Given the description of an element on the screen output the (x, y) to click on. 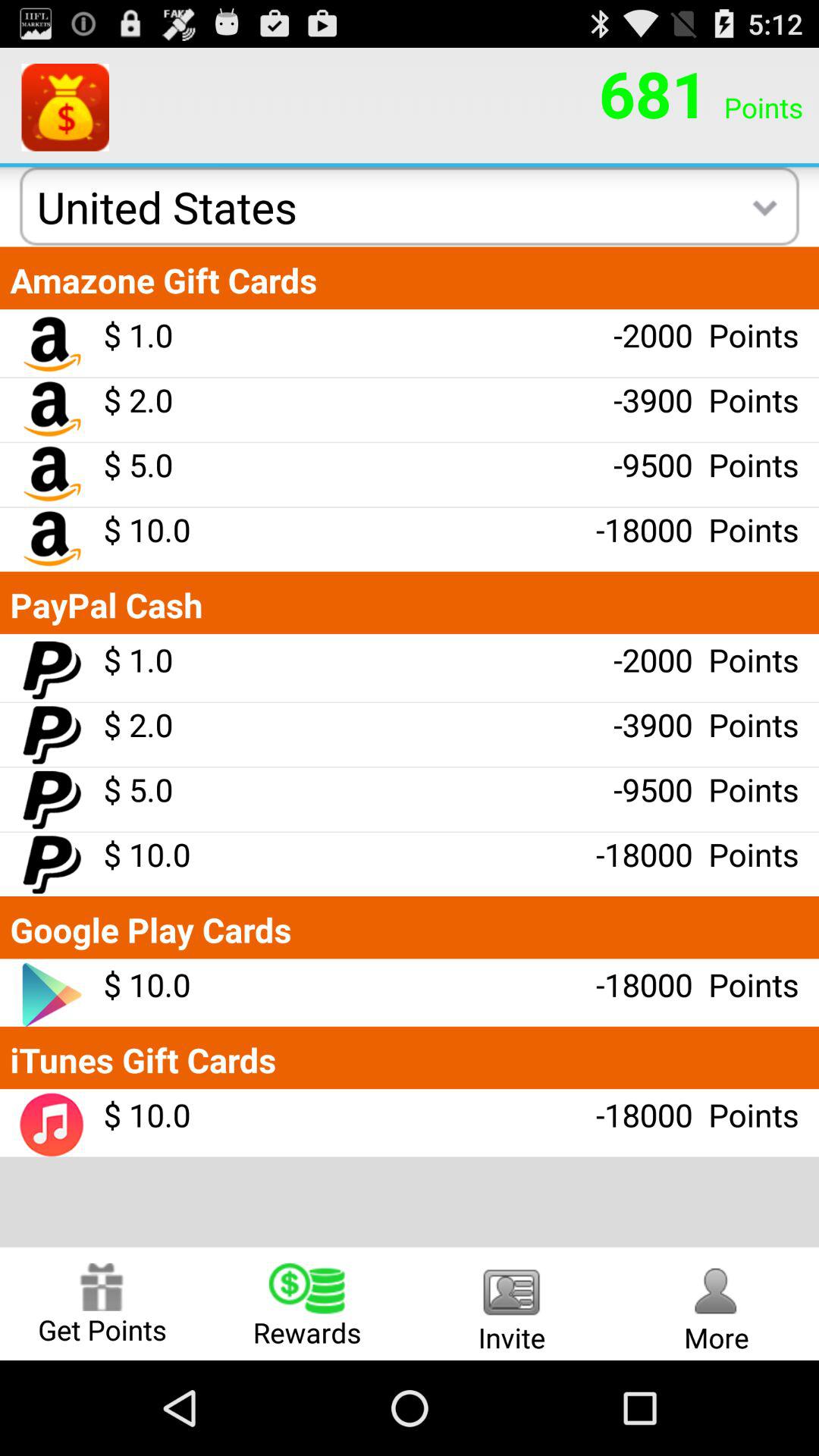
turn off the app below -18000  points (511, 1303)
